Given the description of an element on the screen output the (x, y) to click on. 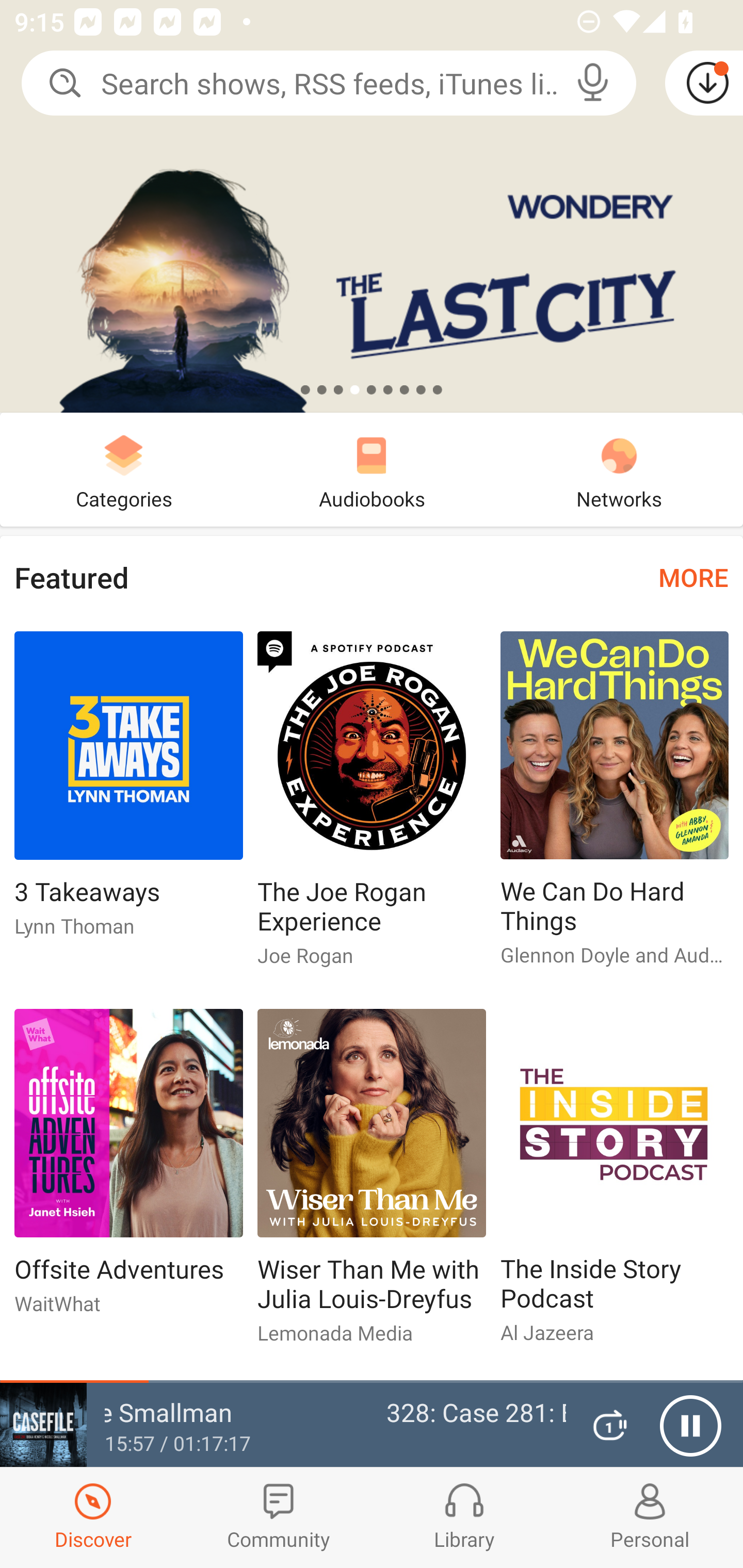
The Last City (371, 206)
Categories (123, 469)
Audiobooks (371, 469)
Networks (619, 469)
MORE (693, 576)
3 Takeaways 3 Takeaways Lynn Thoman (128, 792)
Offsite Adventures Offsite Adventures WaitWhat (128, 1169)
Pause (690, 1425)
Discover (92, 1517)
Community (278, 1517)
Library (464, 1517)
Profiles and Settings Personal (650, 1517)
